Given the description of an element on the screen output the (x, y) to click on. 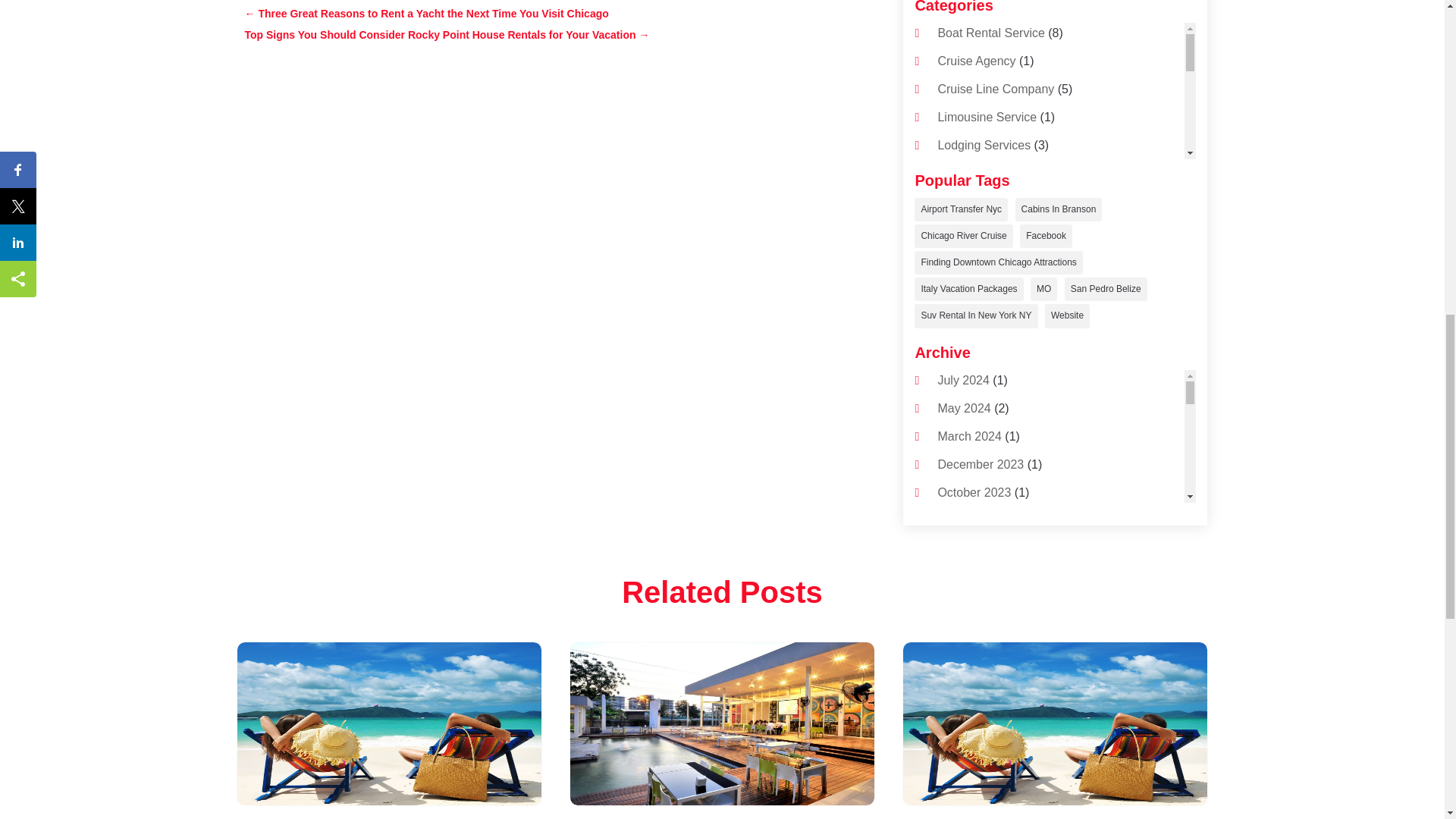
Resort (954, 201)
Airport Transfer Nyc (960, 209)
Uncategorized (975, 370)
Online Travel Agencies (999, 173)
Lodging Services (983, 144)
Cruise Line Company (995, 88)
Limousine Service (986, 116)
Travel (954, 257)
Travelers (962, 342)
Vacation Rentals (982, 399)
Tour Operator (974, 229)
Travel And Tourism (989, 314)
Chicago River Cruise (962, 236)
Cruise Agency (975, 60)
Van Rental (966, 427)
